Given the description of an element on the screen output the (x, y) to click on. 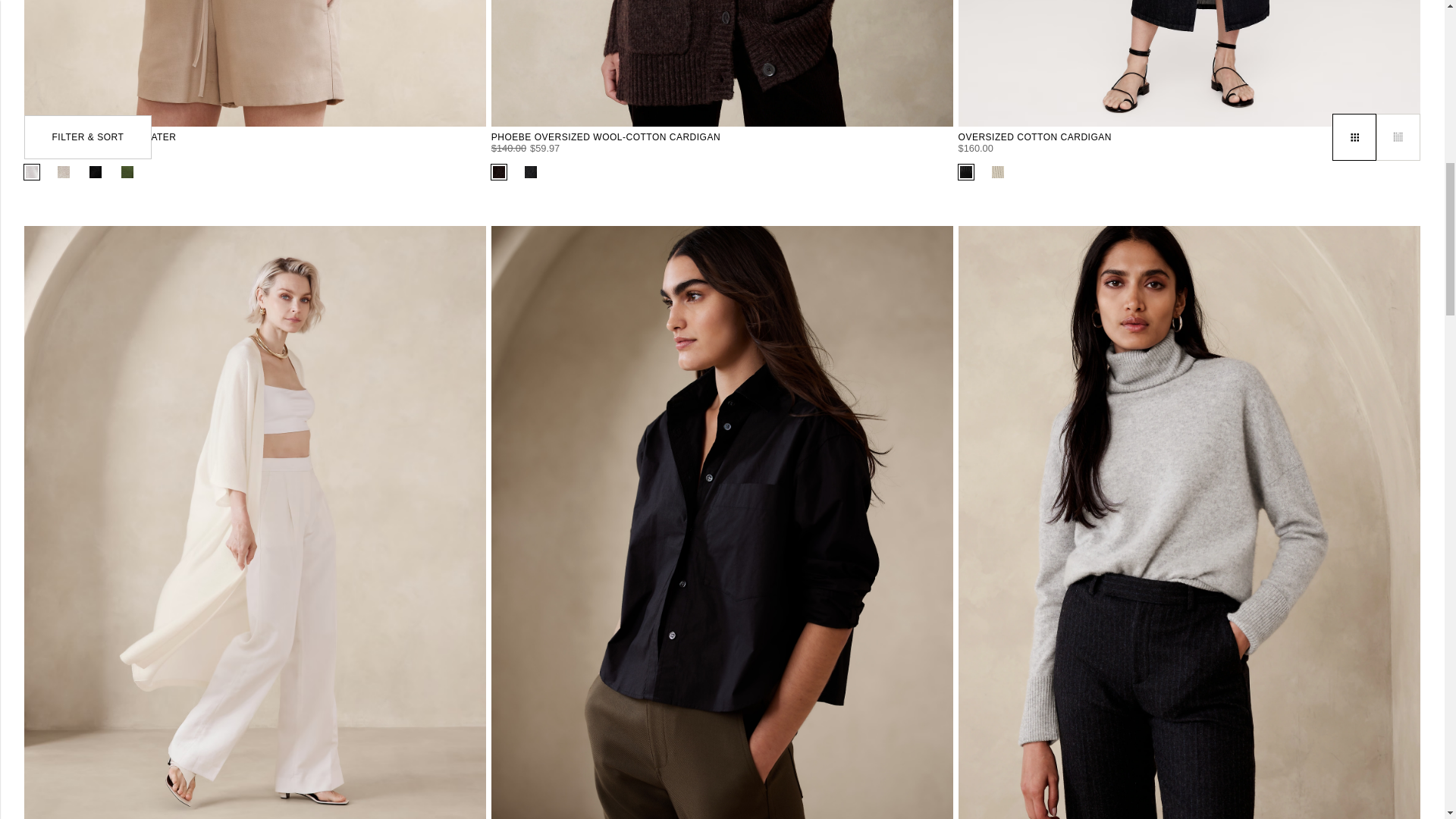
brown (499, 172)
green (126, 172)
white (31, 172)
beige (997, 172)
beige (63, 172)
black (530, 172)
black (94, 172)
black (965, 172)
